Given the description of an element on the screen output the (x, y) to click on. 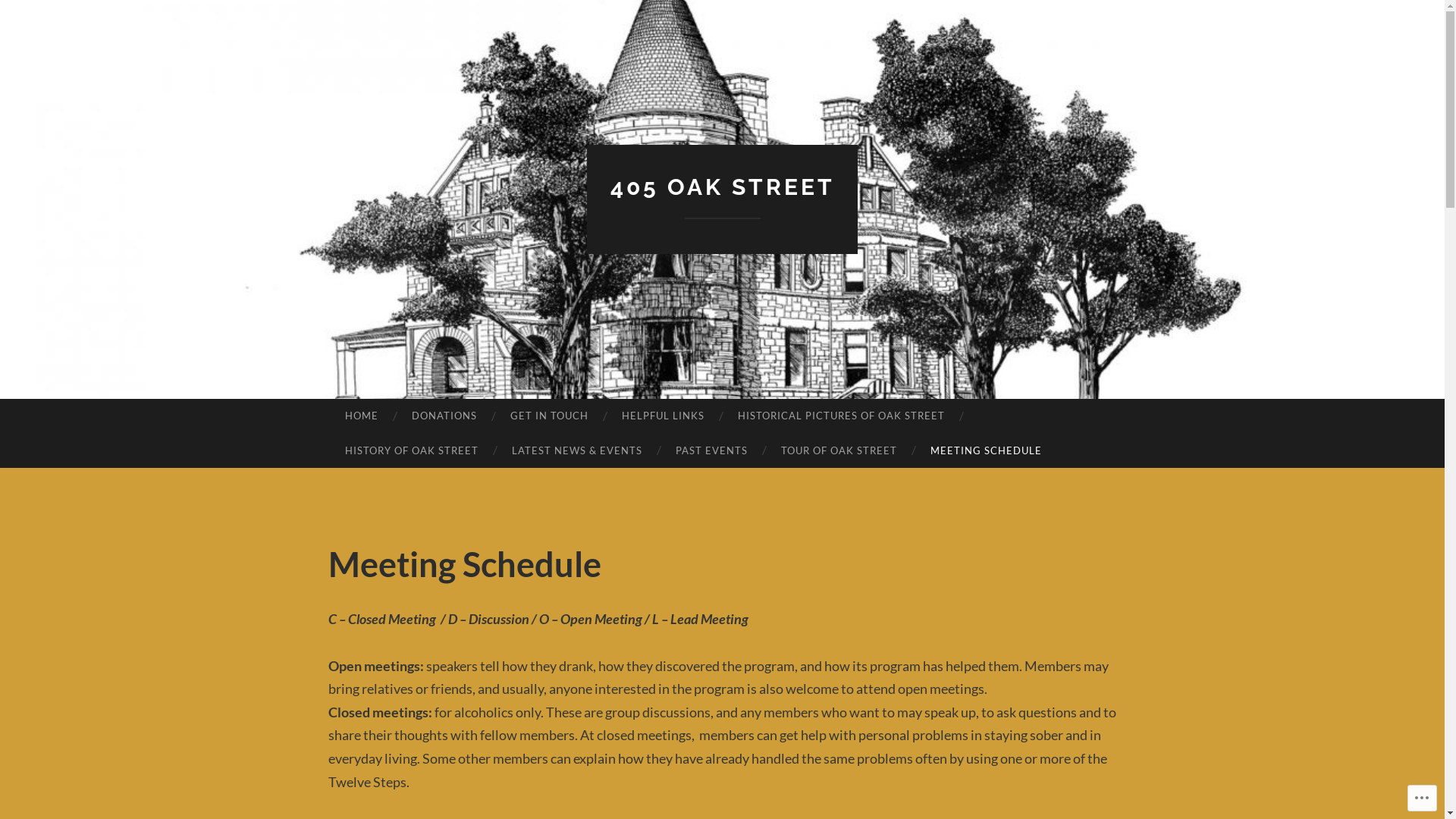
HELPFUL LINKS Element type: text (663, 415)
LATEST NEWS & EVENTS Element type: text (576, 450)
405 OAK STREET Element type: text (721, 186)
HOME Element type: text (360, 415)
MEETING SCHEDULE Element type: text (985, 450)
HISTORY OF OAK STREET Element type: text (410, 450)
GET IN TOUCH Element type: text (549, 415)
HISTORICAL PICTURES OF OAK STREET Element type: text (841, 415)
DONATIONS Element type: text (444, 415)
PAST EVENTS Element type: text (711, 450)
TOUR OF OAK STREET Element type: text (838, 450)
